Given the description of an element on the screen output the (x, y) to click on. 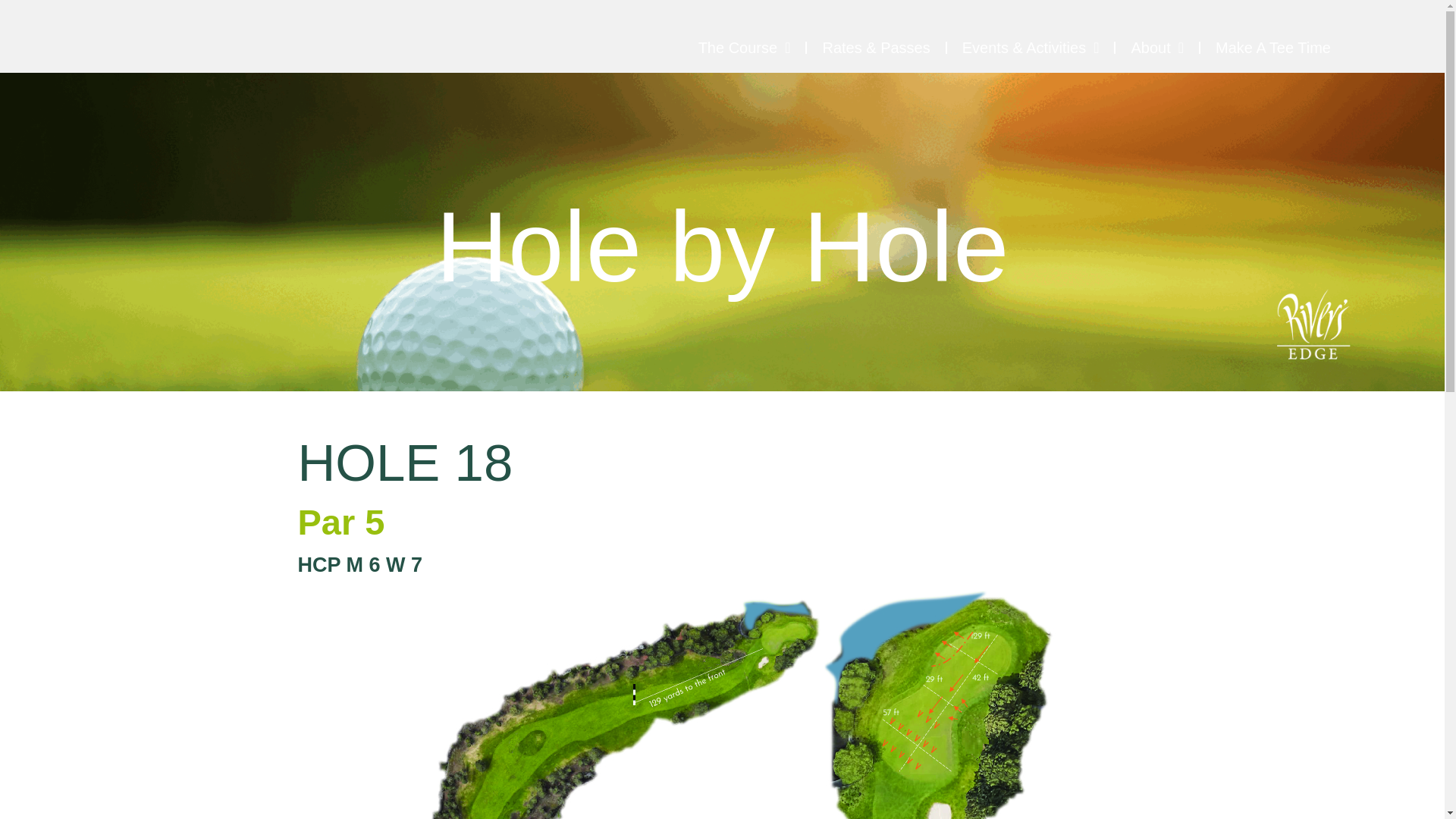
About (1156, 47)
Make A Tee Time (1272, 47)
The Course (744, 47)
